Given the description of an element on the screen output the (x, y) to click on. 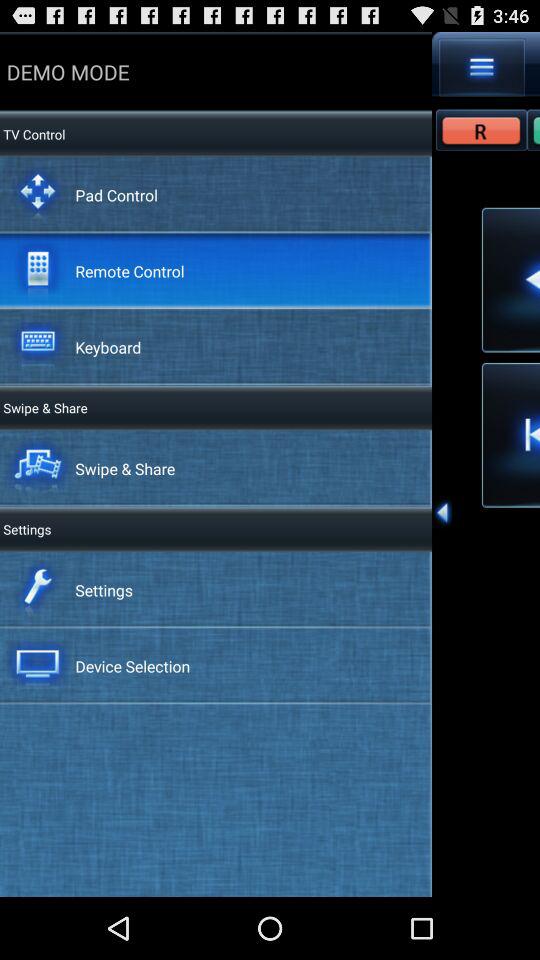
swipe until the keyboard (108, 346)
